Given the description of an element on the screen output the (x, y) to click on. 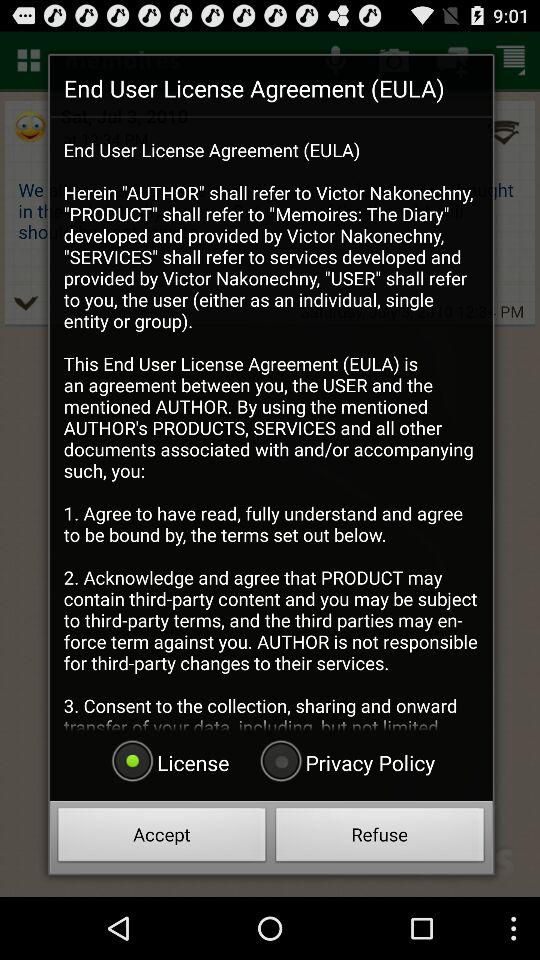
turn on accept item (162, 837)
